Given the description of an element on the screen output the (x, y) to click on. 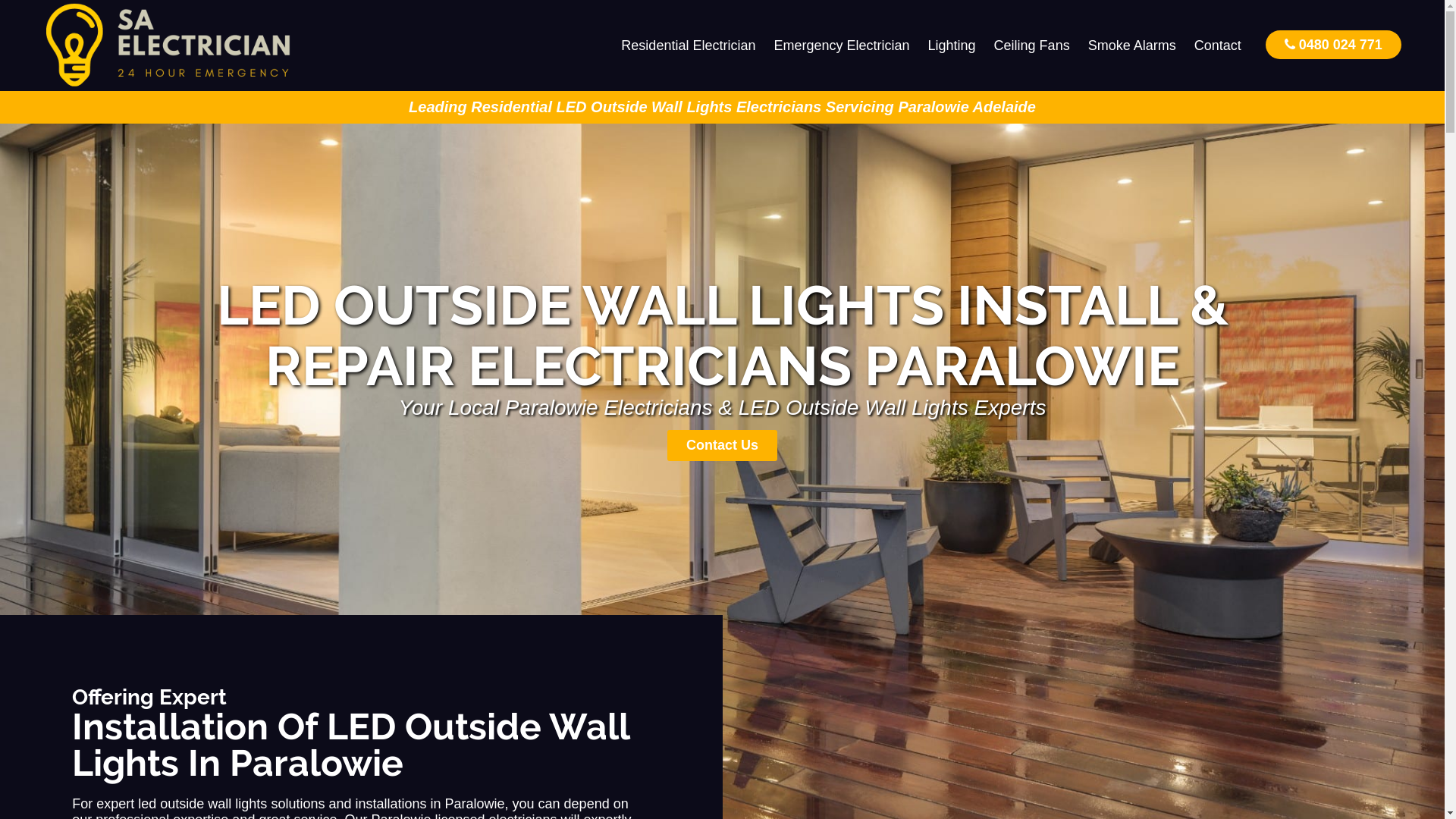
Smoke Alarms Element type: text (1132, 45)
Lighting Element type: text (952, 45)
0480 024 771 Element type: text (1333, 44)
Residential Electrician Element type: text (687, 45)
Emergency Electrician Element type: text (841, 45)
Contact Element type: text (1217, 45)
Contact Us Element type: text (722, 445)
Ceiling Fans Element type: text (1032, 45)
